Given the description of an element on the screen output the (x, y) to click on. 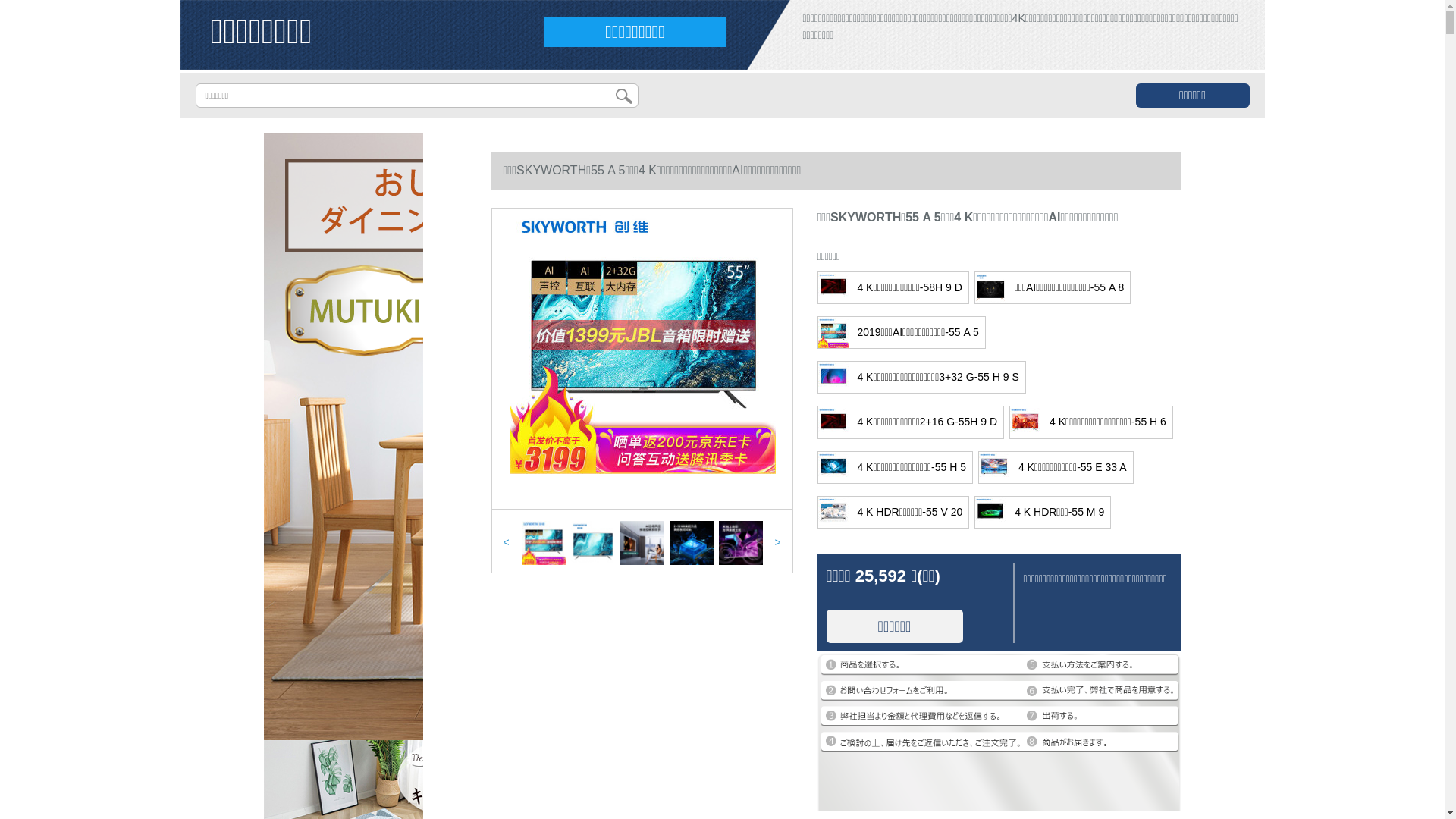
> Element type: text (776, 541)
< Element type: text (505, 541)
